Given the description of an element on the screen output the (x, y) to click on. 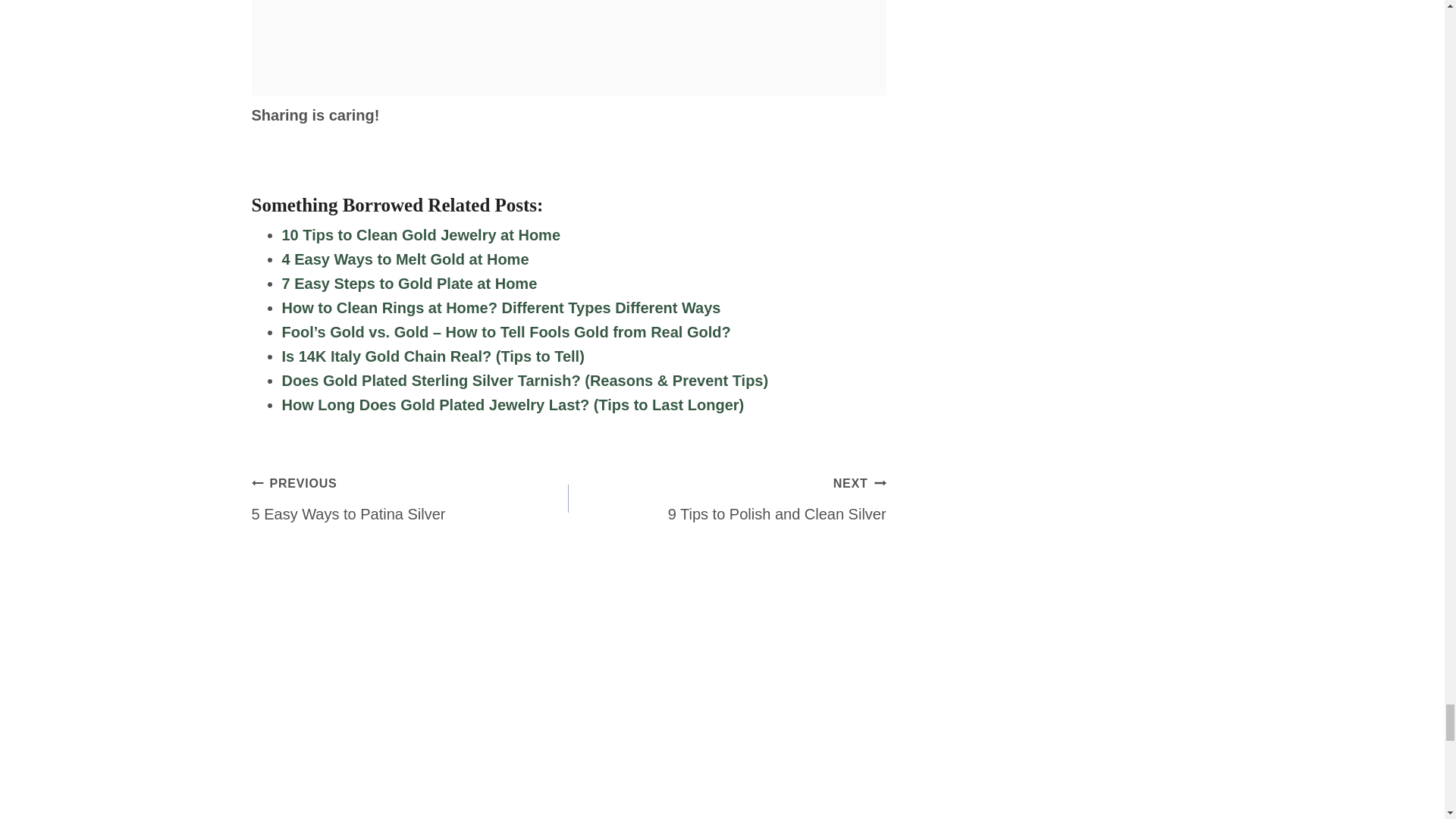
10 Tips to Clean Gold Jewelry at Home (421, 234)
How to Clean Rings at Home? Different Types Different Ways (501, 307)
How to Clean Rings at Home? Different Types Different Ways (501, 307)
7 Easy Steps to Gold Plate at Home (409, 283)
10 Tips to Clean Gold Jewelry at Home (421, 234)
4 Easy Ways to Melt Gold at Home (405, 258)
7 Easy Steps to Gold Plate at Home (409, 283)
4 Easy Ways to Melt Gold at Home (405, 258)
